Given the description of an element on the screen output the (x, y) to click on. 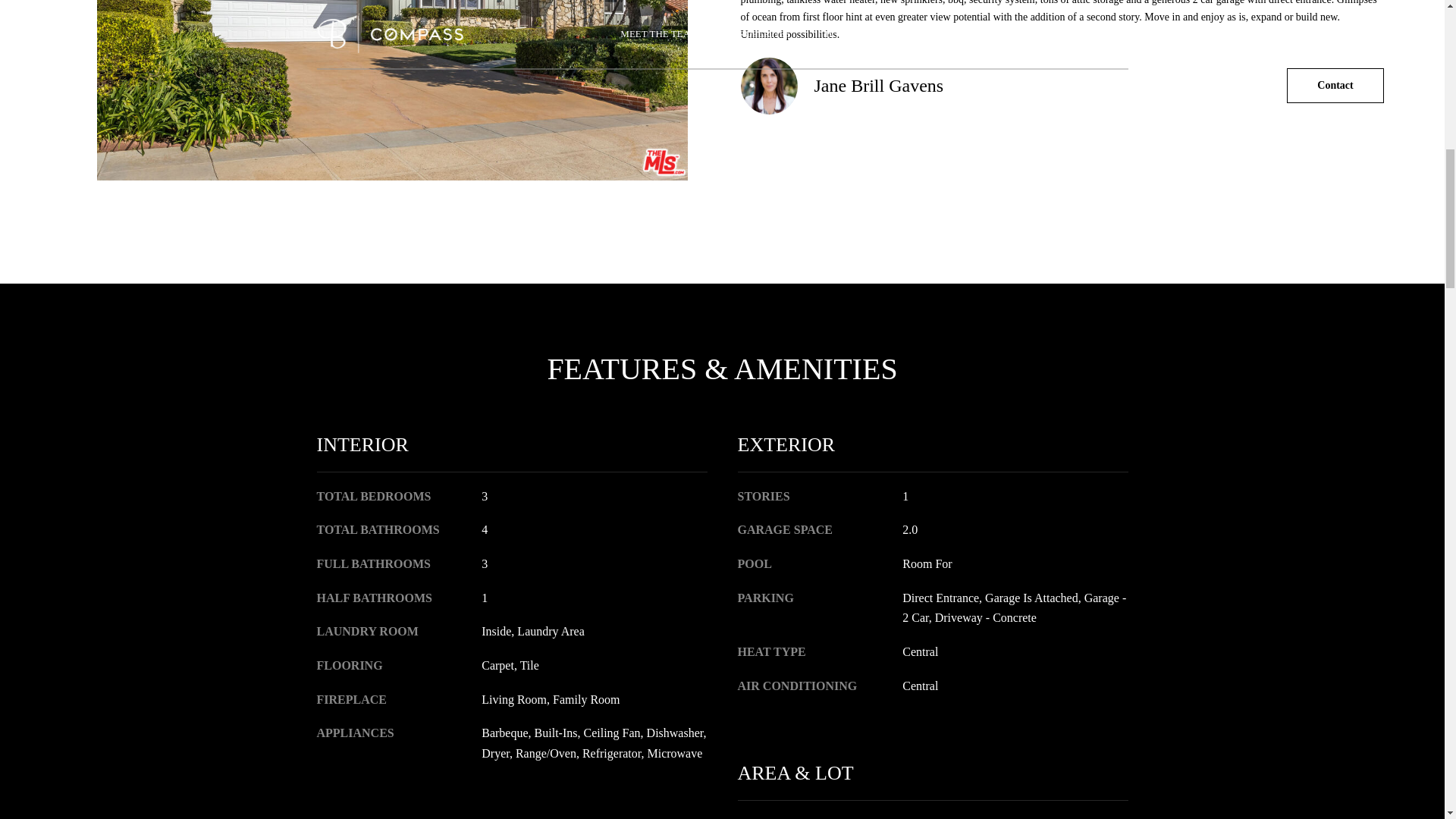
Contact (1335, 85)
